Given the description of an element on the screen output the (x, y) to click on. 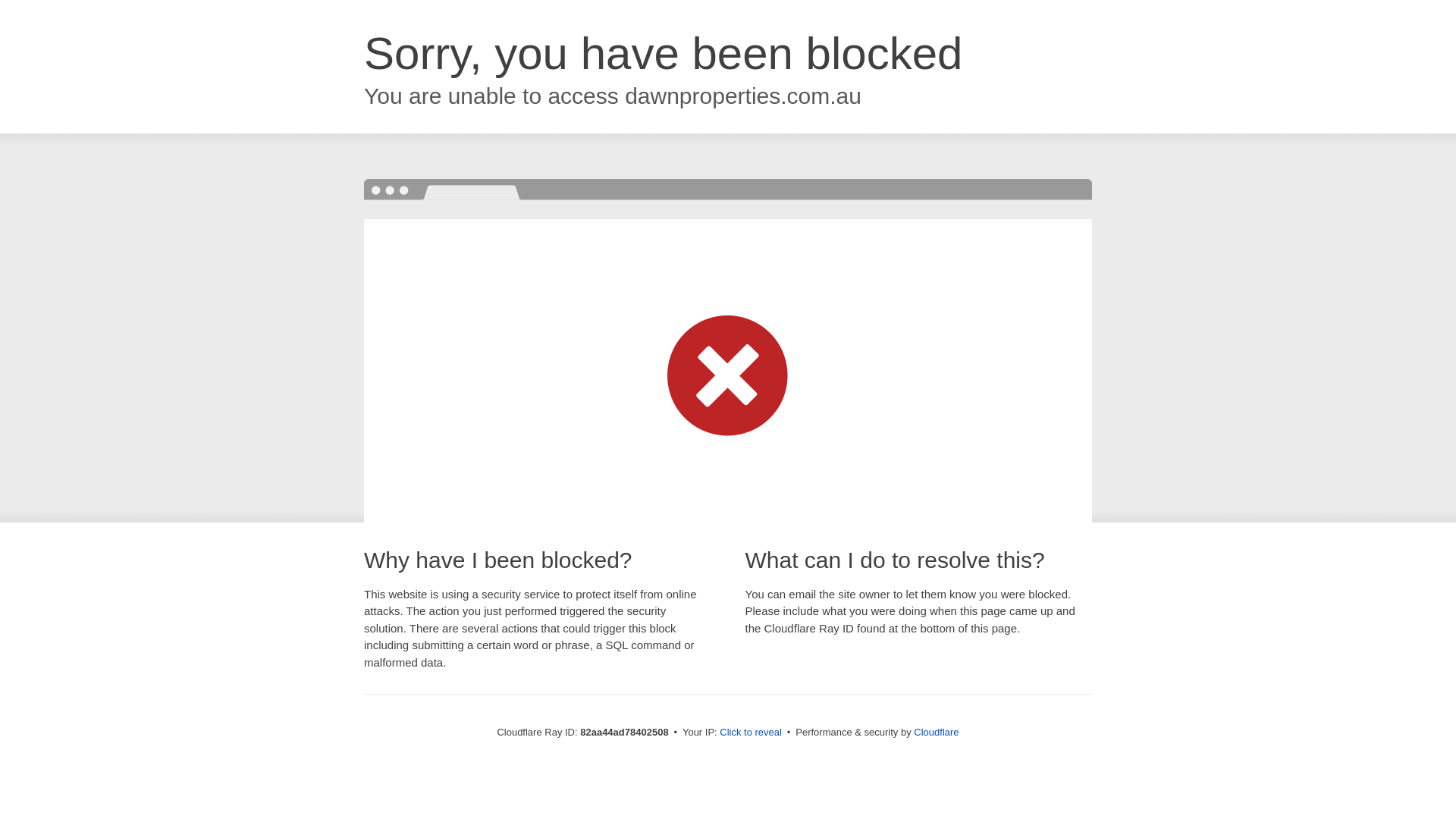
Cloudflare Element type: text (935, 731)
Click to reveal Element type: text (750, 732)
